Given the description of an element on the screen output the (x, y) to click on. 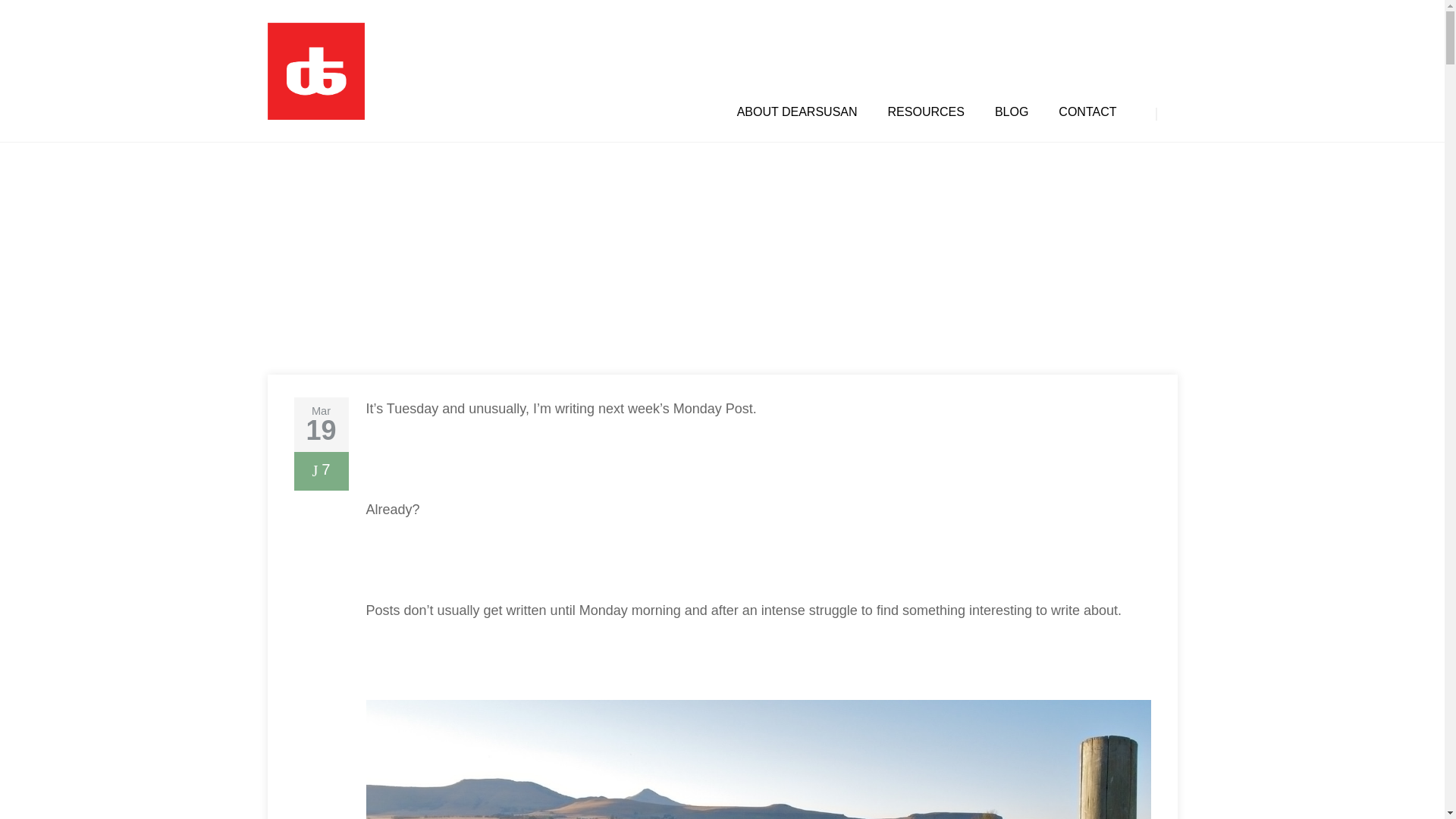
CONTACT (1087, 111)
ABOUT DEARSUSAN (796, 111)
7 (320, 471)
BLOG (1010, 111)
Monday Post (424, 309)
RESOURCES (925, 111)
Paul Perton (322, 309)
